Given the description of an element on the screen output the (x, y) to click on. 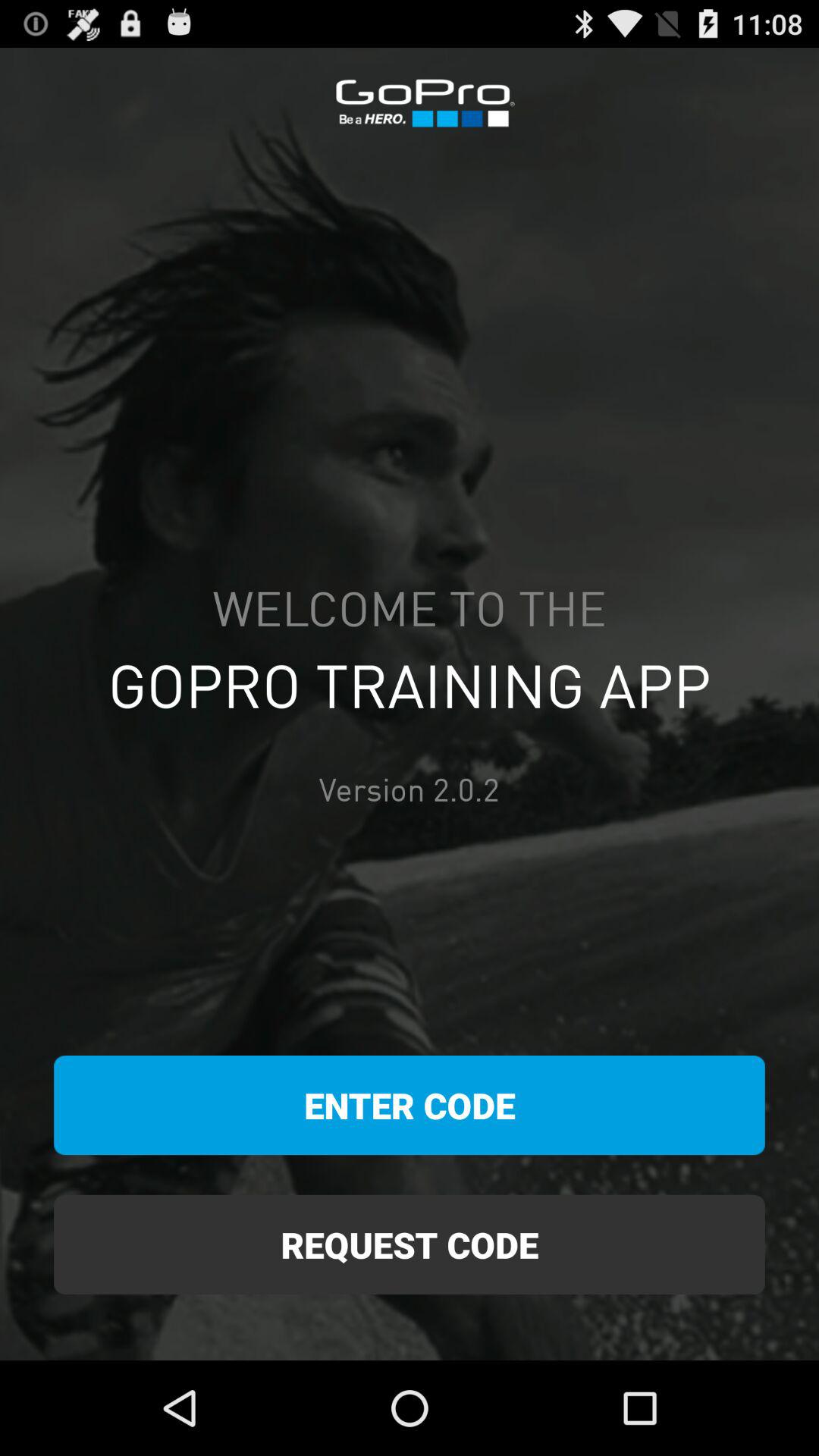
turn off the icon below version 2 0 item (409, 1105)
